Given the description of an element on the screen output the (x, y) to click on. 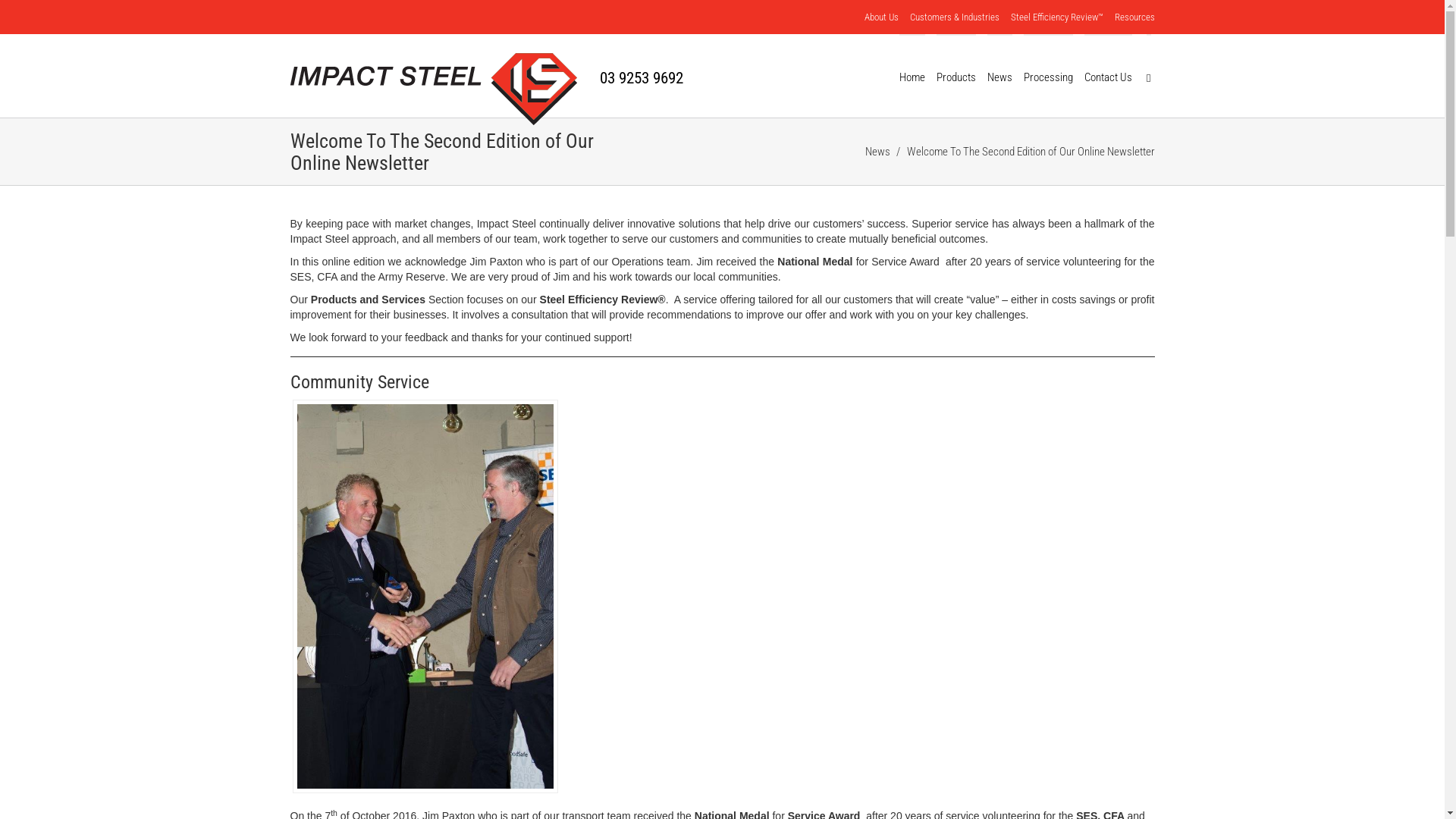
03 9253 9692 Element type: text (640, 77)
Products Element type: text (955, 75)
News Element type: text (999, 75)
Customers & Industries Element type: text (954, 16)
Resources Element type: text (1134, 16)
Processing Element type: text (1048, 75)
News Element type: text (878, 151)
About Us Element type: text (881, 16)
Contact Us Element type: text (1108, 75)
Home Element type: text (912, 75)
